Given the description of an element on the screen output the (x, y) to click on. 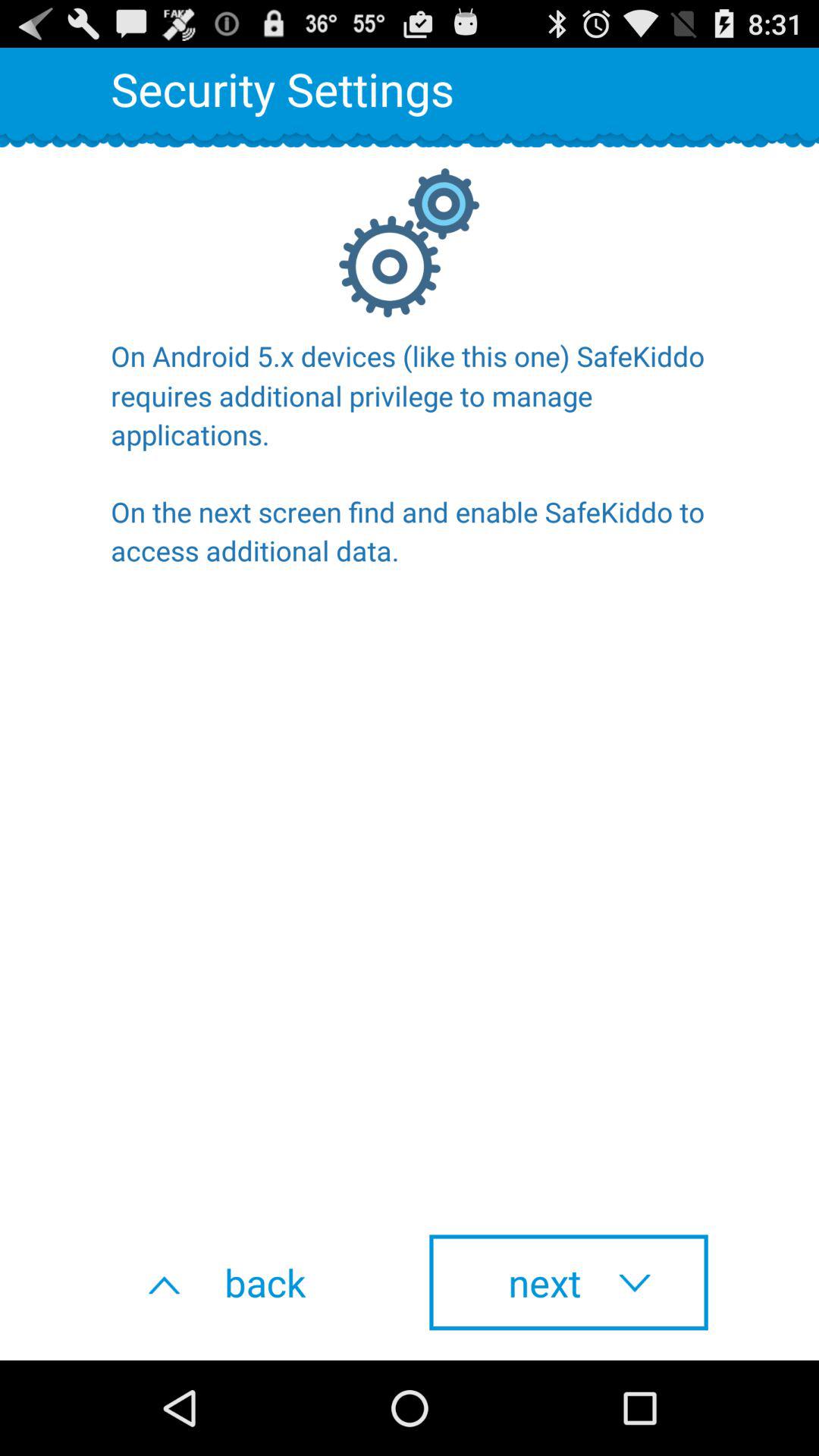
launch item at the bottom left corner (249, 1282)
